Given the description of an element on the screen output the (x, y) to click on. 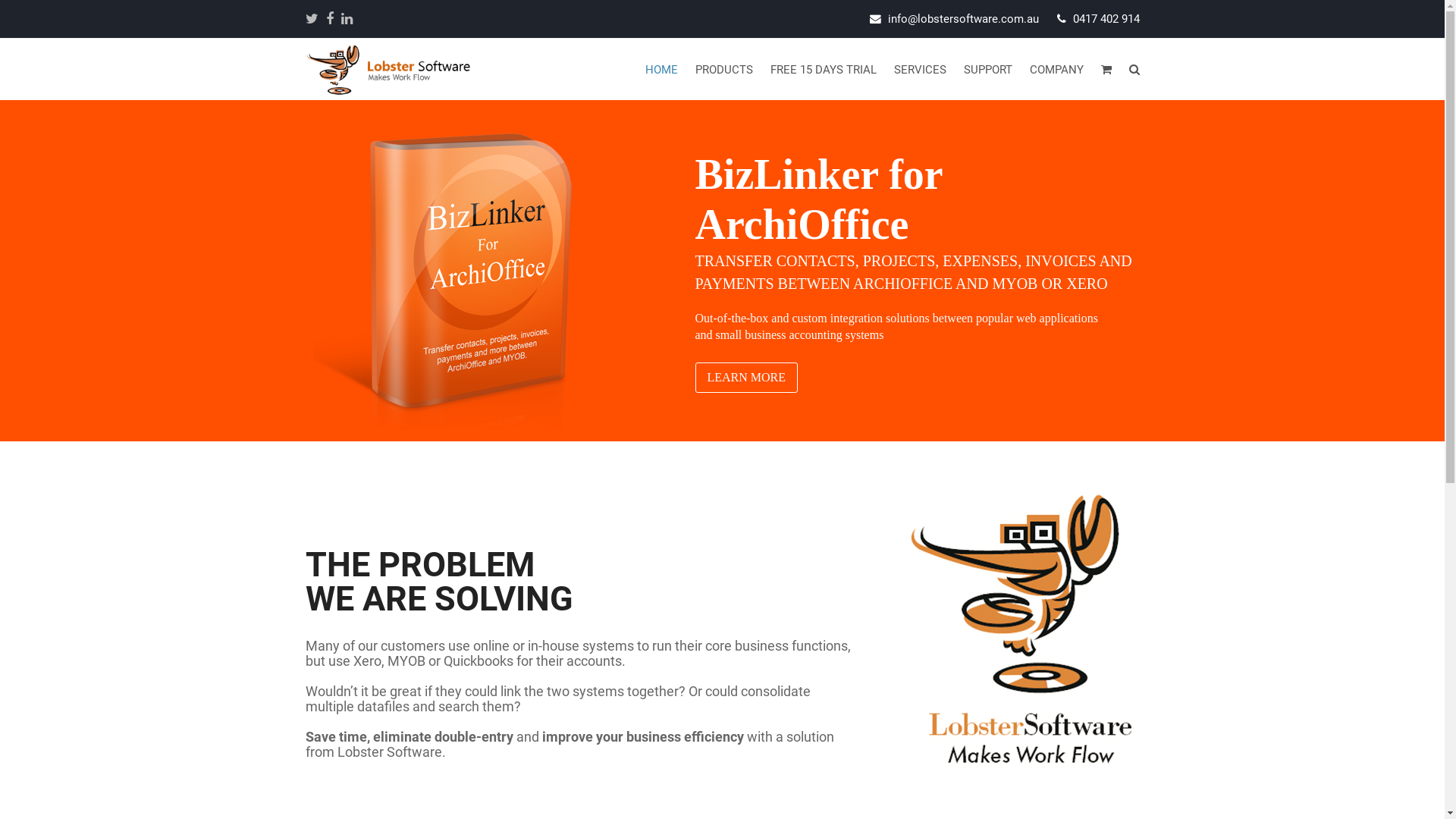
LinkedIn Element type: hover (346, 18)
Lobster Software Element type: hover (387, 67)
COMPANY Element type: text (1056, 69)
Twitter Element type: hover (310, 18)
Facebook Element type: hover (329, 18)
info@lobstersoftware.com.au Element type: text (962, 18)
SERVICES Element type: text (920, 69)
SUPPORT Element type: text (988, 69)
PRODUCTS Element type: text (724, 69)
FREE 15 DAYS TRIAL Element type: text (822, 69)
LEARN MORE Element type: text (745, 377)
Your Cart Element type: hover (1106, 69)
HOME Element type: text (662, 69)
